Given the description of an element on the screen output the (x, y) to click on. 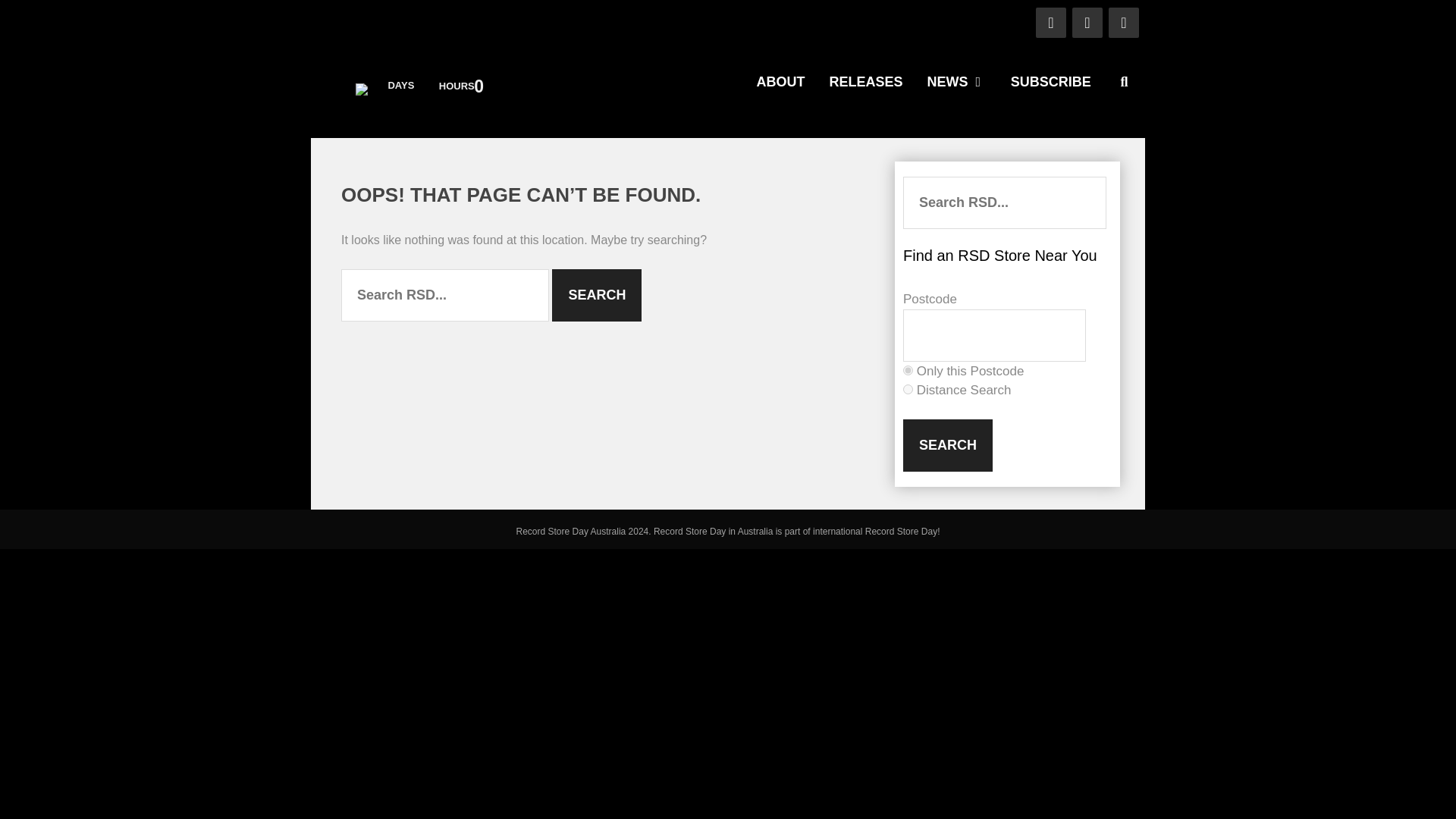
Search (947, 445)
Search (596, 295)
SUBSCRIBE (1050, 81)
Search (947, 445)
zip (907, 370)
Search for: (444, 295)
RELEASES (865, 81)
Instagram (1123, 22)
Facebook (1050, 22)
distance (907, 388)
